Given the description of an element on the screen output the (x, y) to click on. 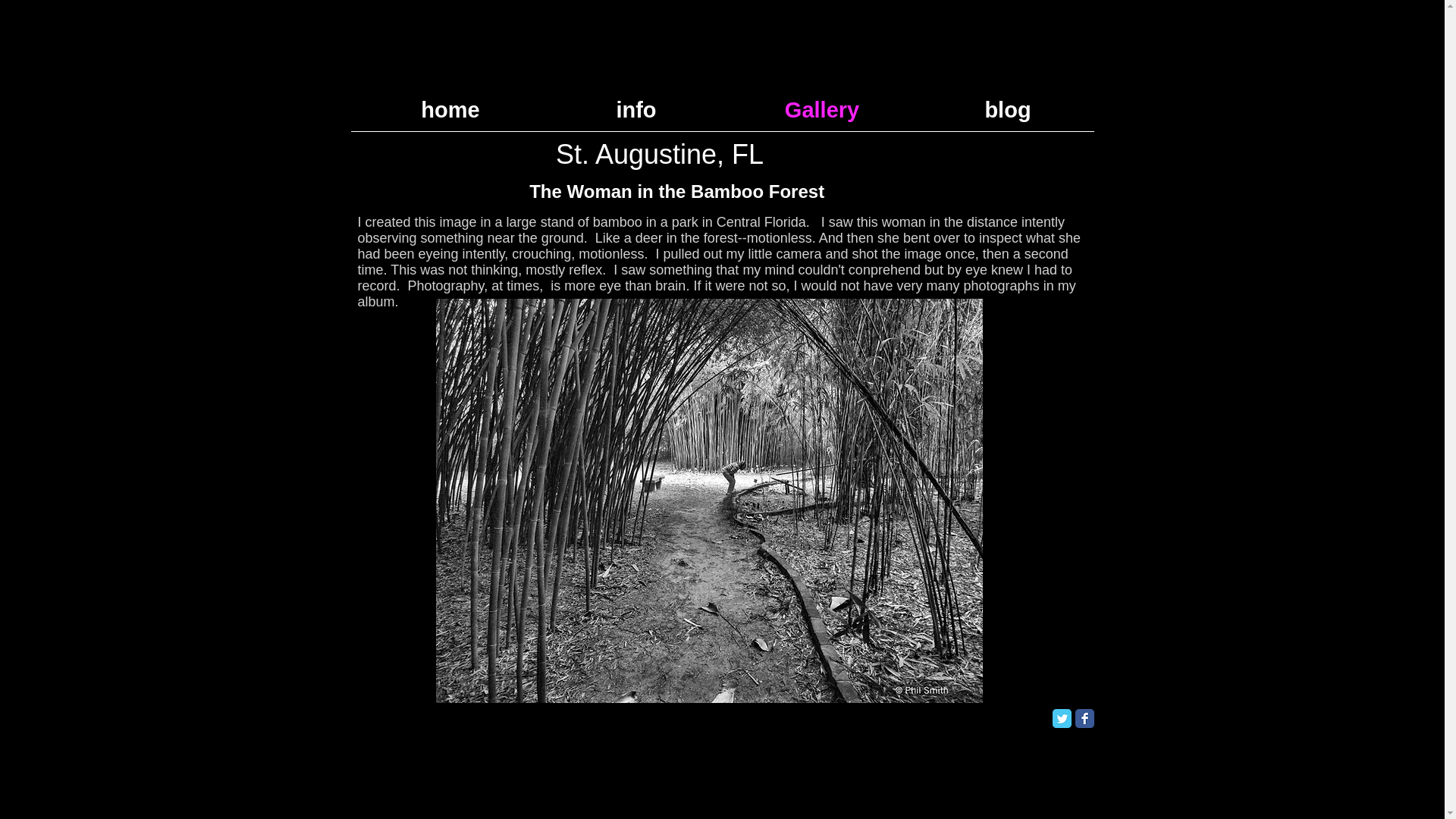
blog (1007, 109)
info (636, 109)
home (450, 109)
Gallery (822, 109)
